Given the description of an element on the screen output the (x, y) to click on. 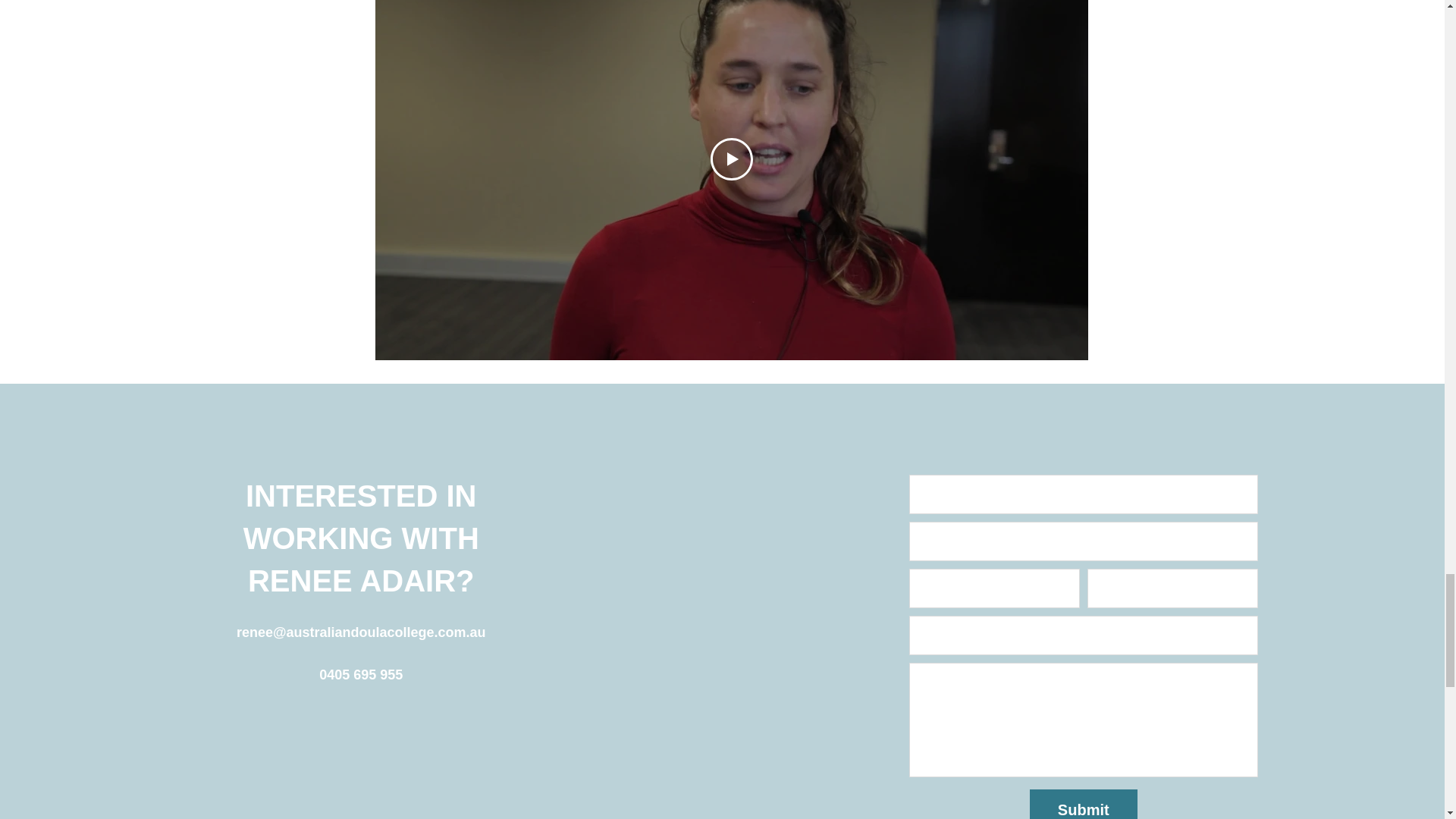
Submit (1083, 804)
